Given the description of an element on the screen output the (x, y) to click on. 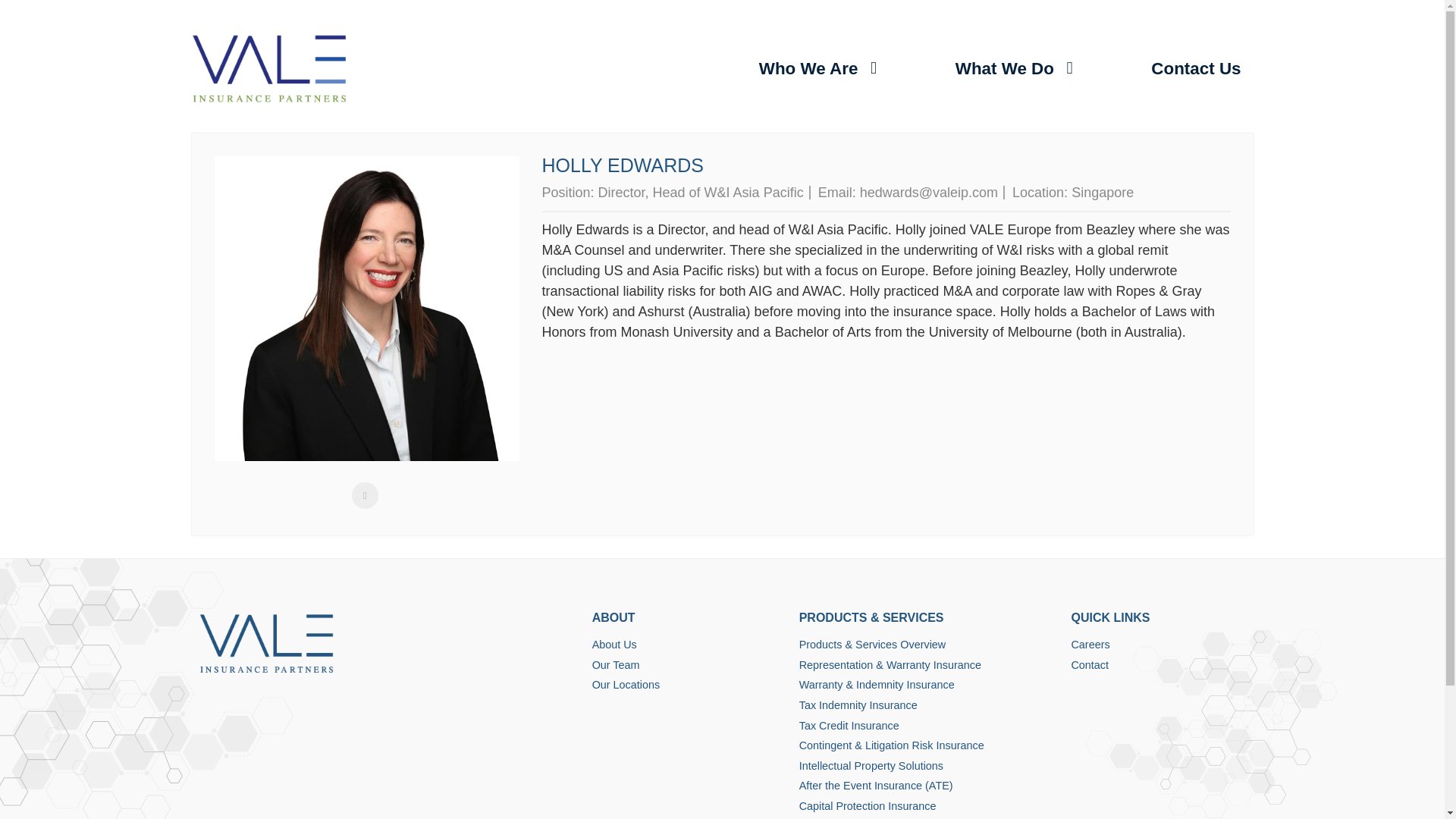
About Us (688, 645)
Intellectual Property Solutions (928, 766)
Capital Protection Insurance (928, 806)
Contact Us (1195, 68)
Our Team (688, 665)
Tax Indemnity Insurance (928, 705)
Our Locations (688, 685)
Careers (1157, 645)
Tax Credit Insurance (928, 726)
